Given the description of an element on the screen output the (x, y) to click on. 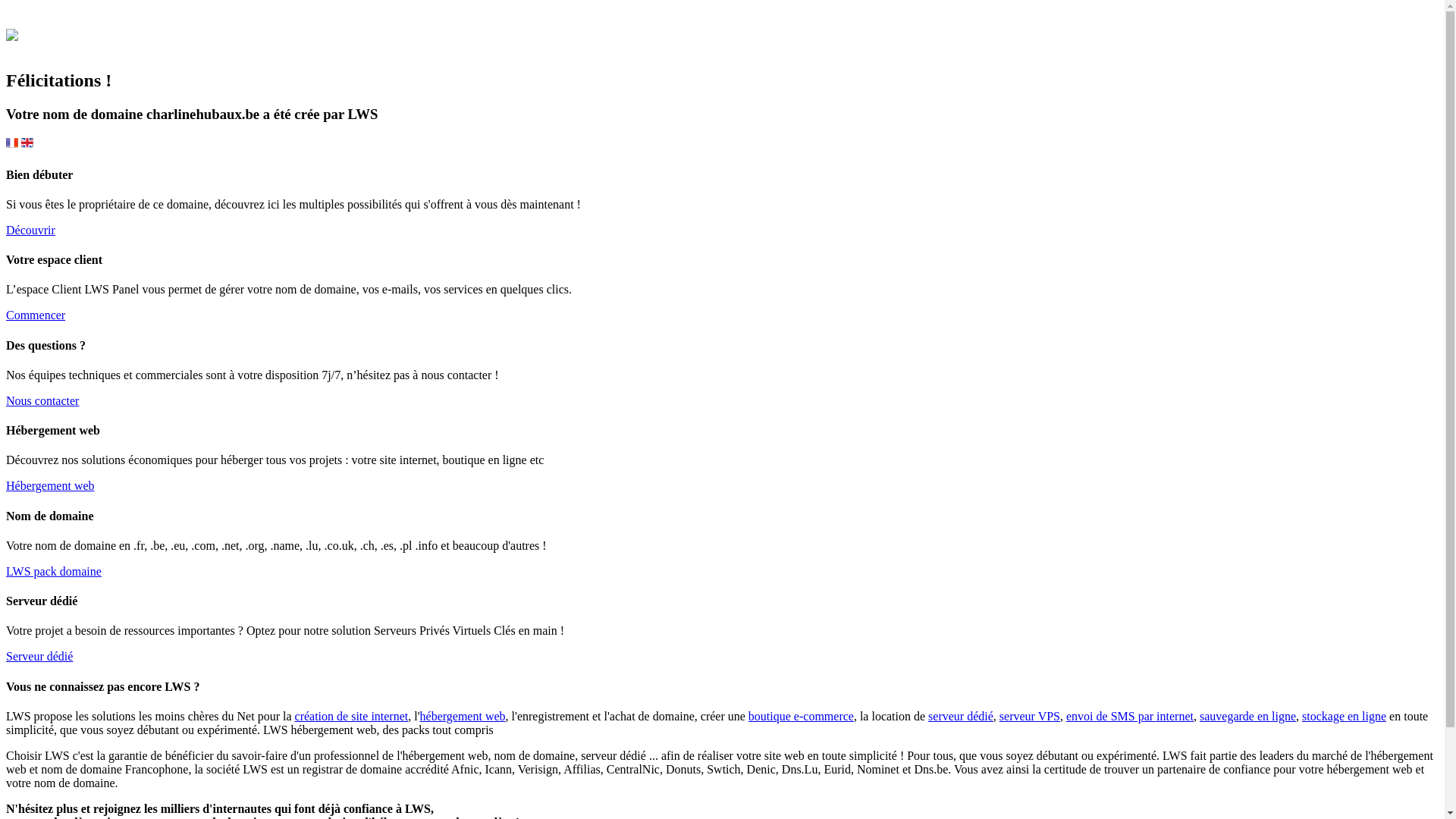
serveur VPS Element type: text (1029, 715)
sauvegarde en ligne Element type: text (1247, 715)
stockage en ligne Element type: text (1344, 715)
Commencer Element type: text (35, 314)
boutique e-commerce Element type: text (800, 715)
LWS pack domaine Element type: text (53, 570)
Nous contacter Element type: text (42, 400)
envoi de SMS par internet Element type: text (1129, 715)
